Given the description of an element on the screen output the (x, y) to click on. 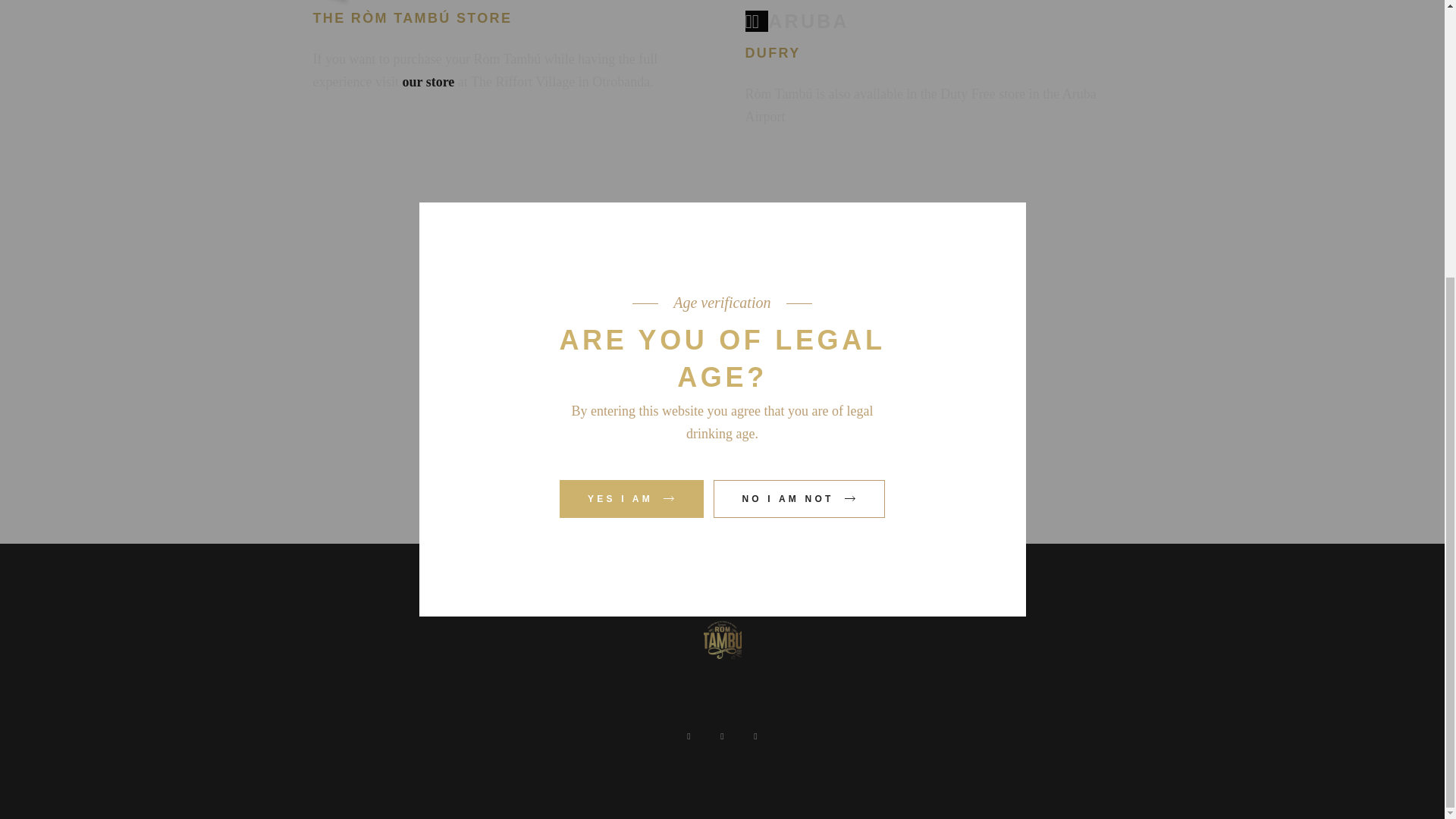
our store (427, 81)
YES I AM (631, 87)
NO I AM NOT (799, 87)
Follow us on Instagram (724, 440)
